Given the description of an element on the screen output the (x, y) to click on. 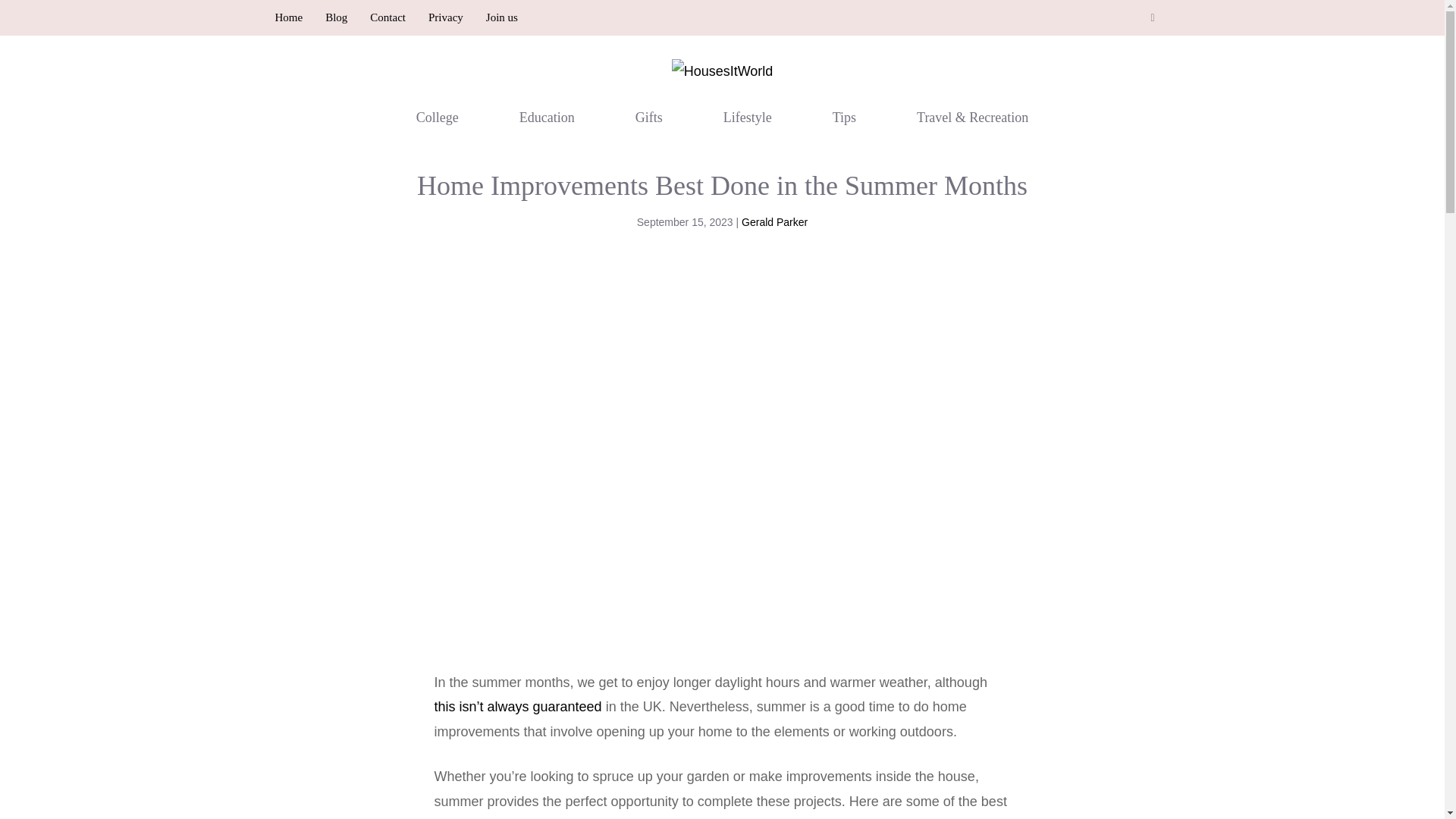
Lifestyle (747, 117)
Home (288, 17)
Instagram (1152, 18)
Education (547, 117)
Contact (387, 17)
Join us (502, 17)
Privacy (445, 17)
View all posts by Gerald Parker (774, 222)
Tips (844, 117)
Blog (335, 17)
Gifts (649, 117)
Gerald Parker (774, 222)
College (437, 117)
